Given the description of an element on the screen output the (x, y) to click on. 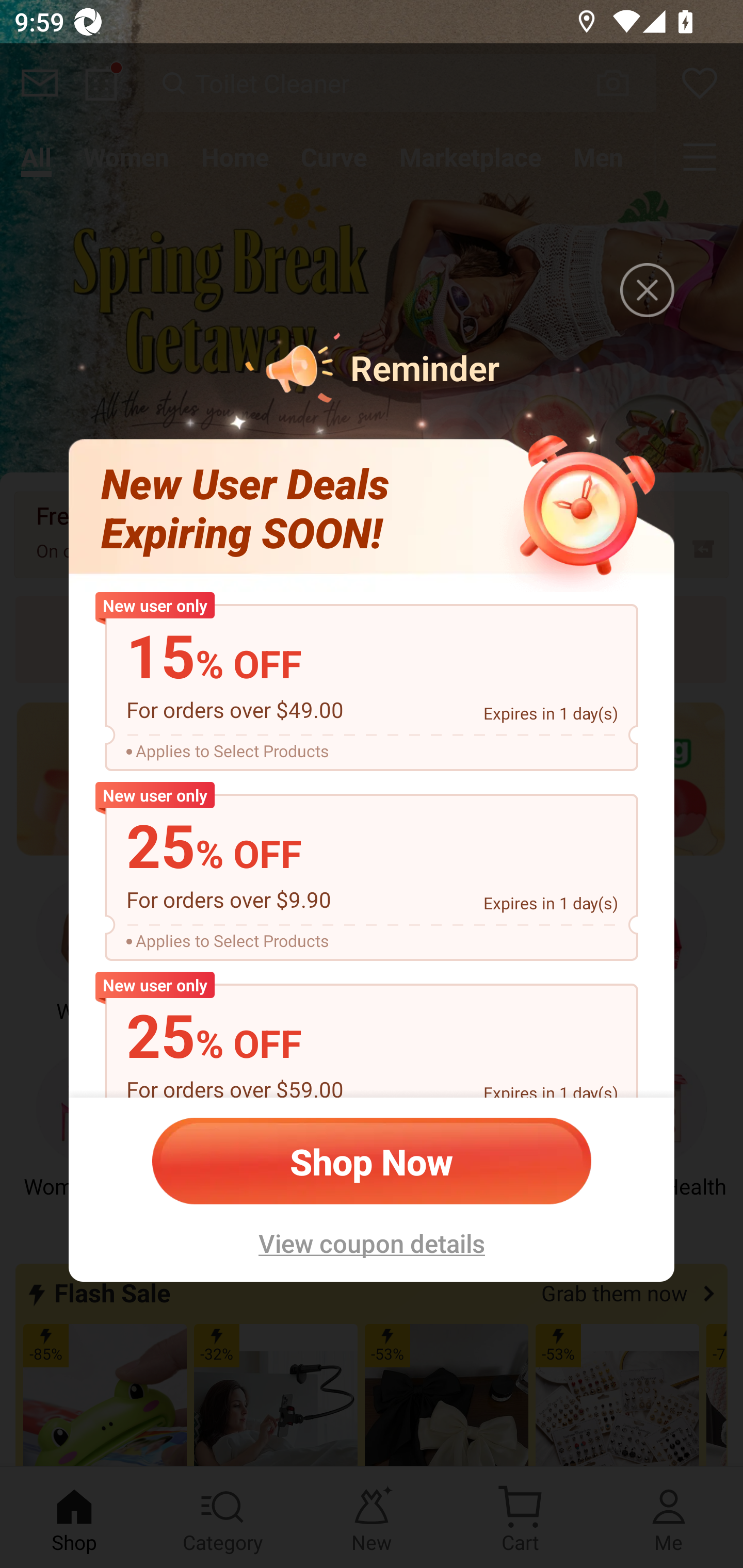
Shop Now (371, 1160)
View coupon details (371, 1243)
